Given the description of an element on the screen output the (x, y) to click on. 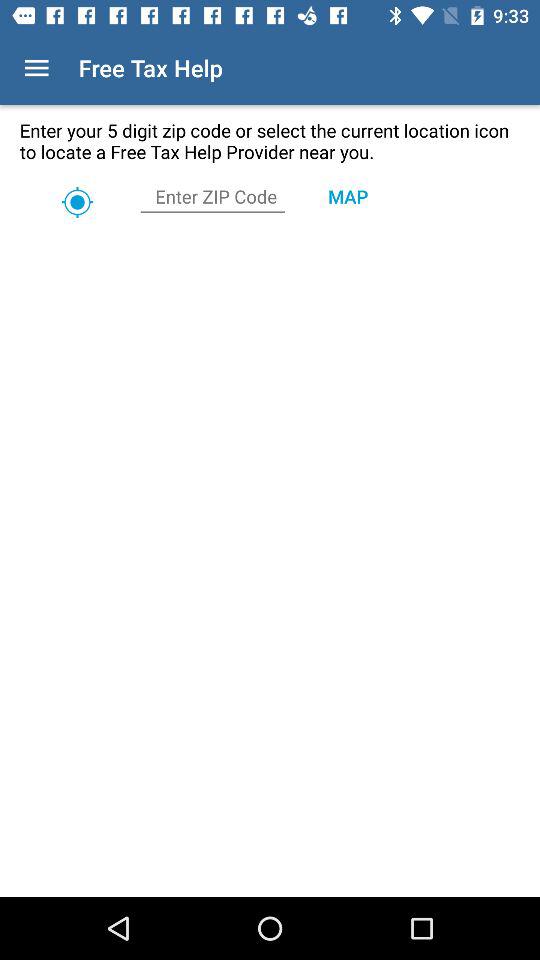
select map (347, 196)
